Given the description of an element on the screen output the (x, y) to click on. 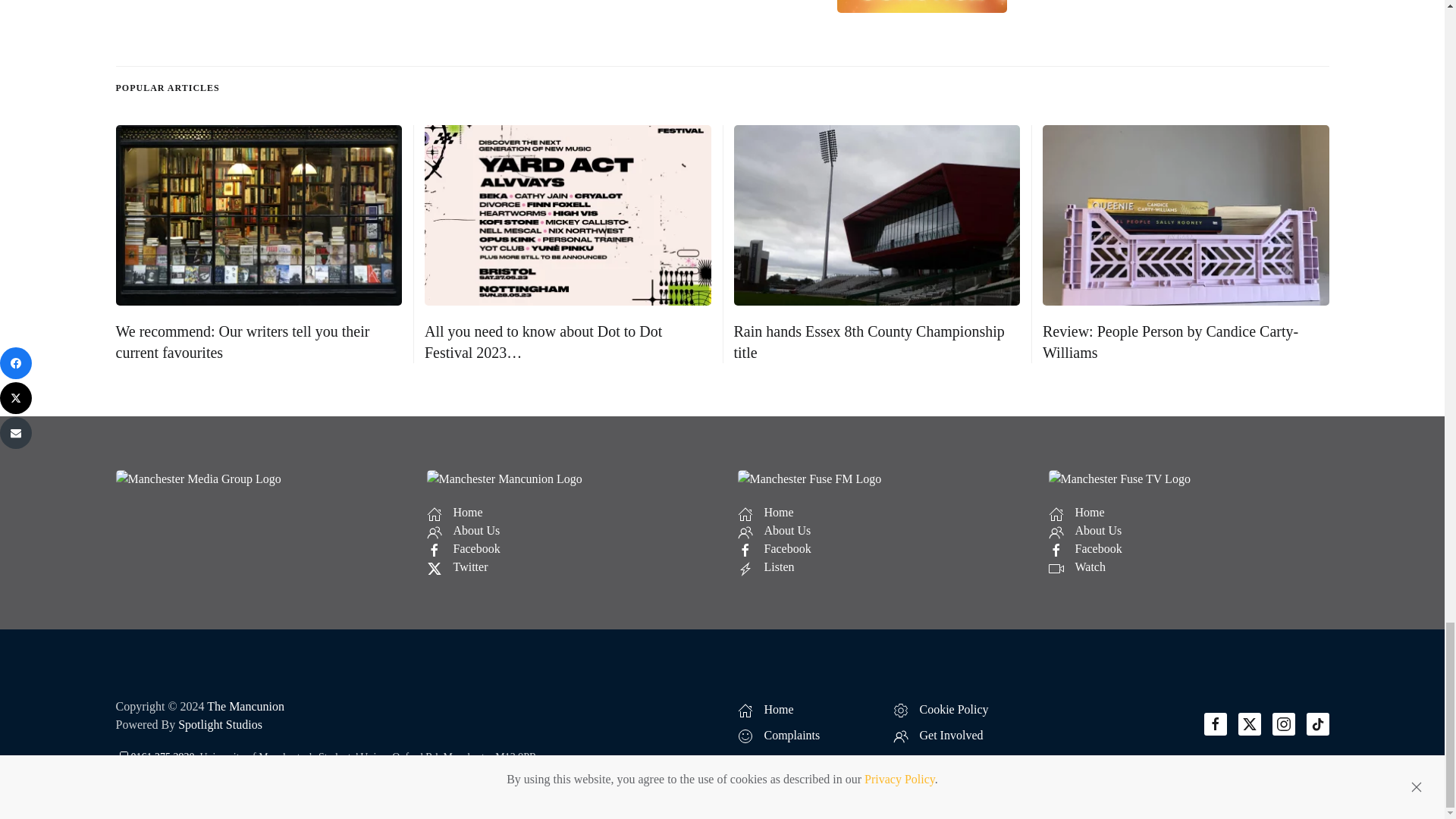
Web Design by Spotlight Studios (219, 724)
The Mancunion (244, 706)
